Given the description of an element on the screen output the (x, y) to click on. 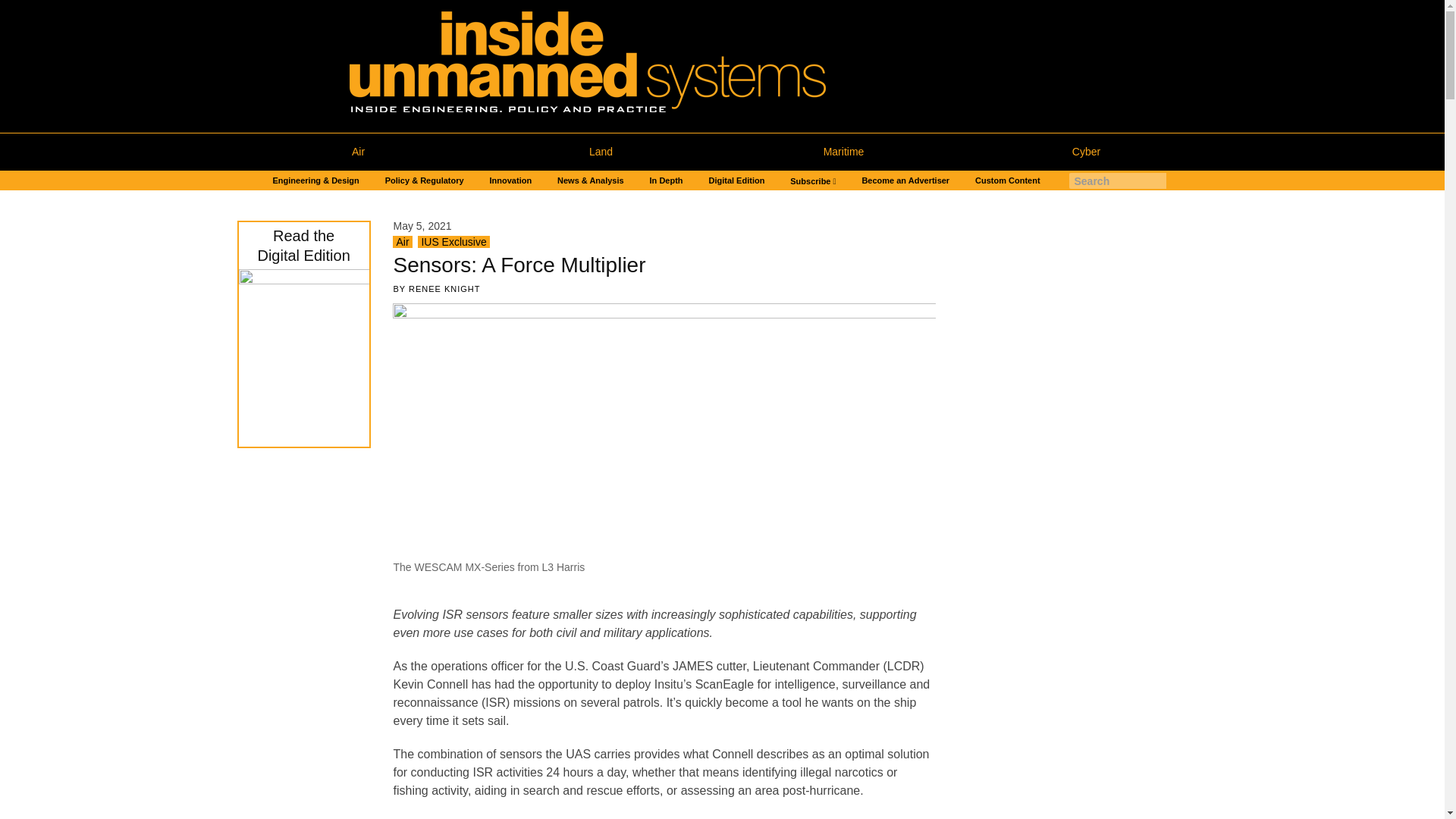
Innovation (511, 180)
Become an Advertiser (905, 180)
3rd party ad content (1073, 725)
Inside Unmanned Systems (614, 66)
3rd party ad content (1073, 315)
3rd party ad content (1073, 520)
Custom Content (1007, 180)
Air (357, 151)
3rd party ad content (296, 751)
Maritime (842, 151)
In Depth (666, 180)
Search (17, 8)
IUS Exclusive (453, 241)
RENEE KNIGHT (444, 288)
Land (600, 151)
